Given the description of an element on the screen output the (x, y) to click on. 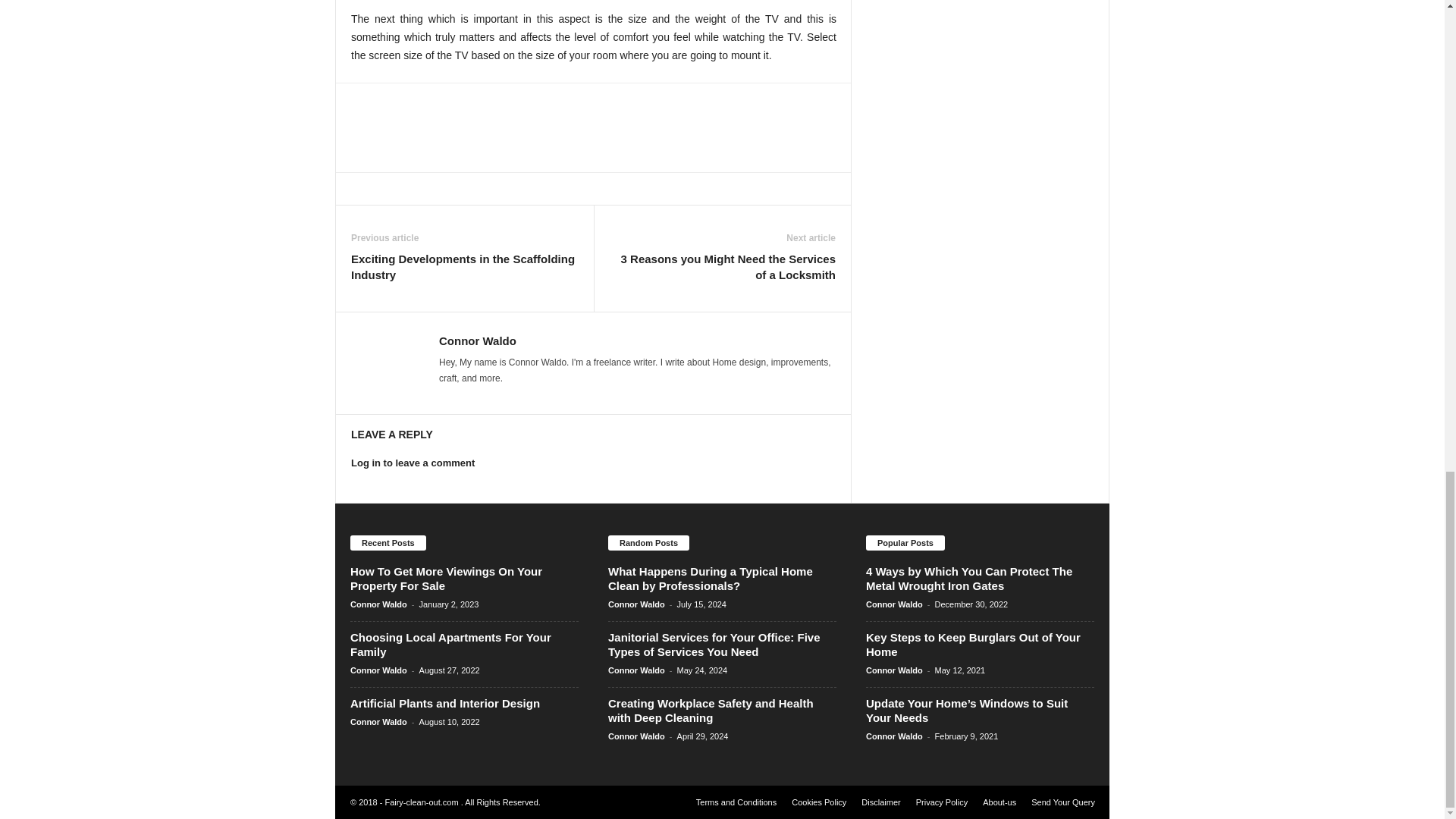
Artificial Plants and Interior Design (445, 703)
What Happens During a Typical Home Clean by Professionals? (710, 578)
Choosing Local Apartments For Your Family (450, 644)
bottomFacebookLike (375, 107)
Connor Waldo (477, 340)
Exciting Developments in the Scaffolding Industry (464, 266)
How To Get More Viewings On Your Property For Sale (445, 578)
How To Get More Viewings On Your Property For Sale (445, 578)
Log in to leave a comment (412, 462)
3 Reasons you Might Need the Services of a Locksmith (721, 266)
Creating Workplace Safety and Health with Deep Cleaning (710, 709)
